Given the description of an element on the screen output the (x, y) to click on. 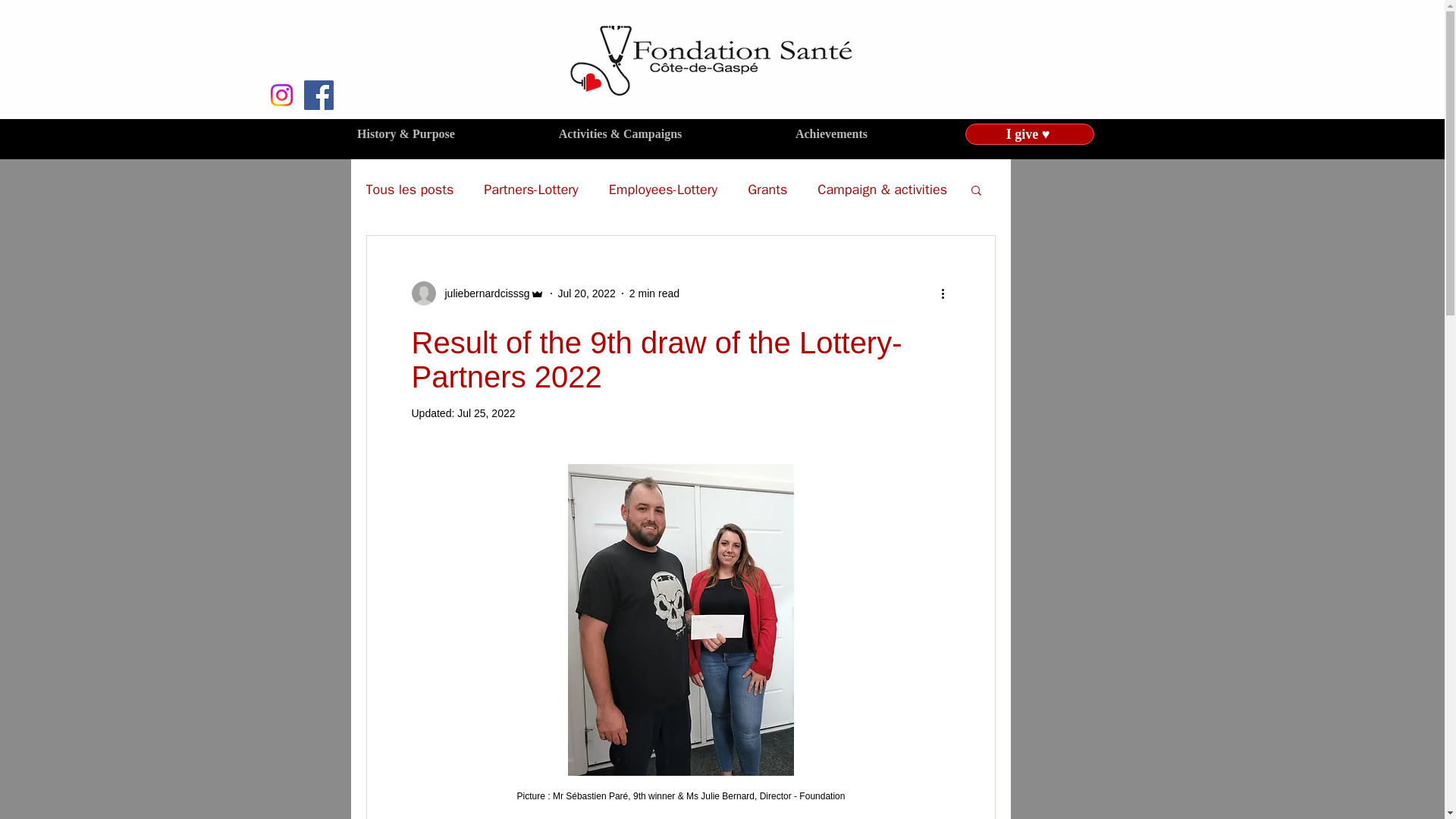
Employees-Lottery (662, 189)
juliebernardcisssg (476, 293)
Grants (767, 189)
Partners-Lottery (530, 189)
juliebernardcisssg (482, 293)
Achievements (830, 133)
Jul 20, 2022 (586, 292)
2 min read (653, 292)
Tous les posts (408, 189)
Jul 25, 2022 (486, 413)
